Given the description of an element on the screen output the (x, y) to click on. 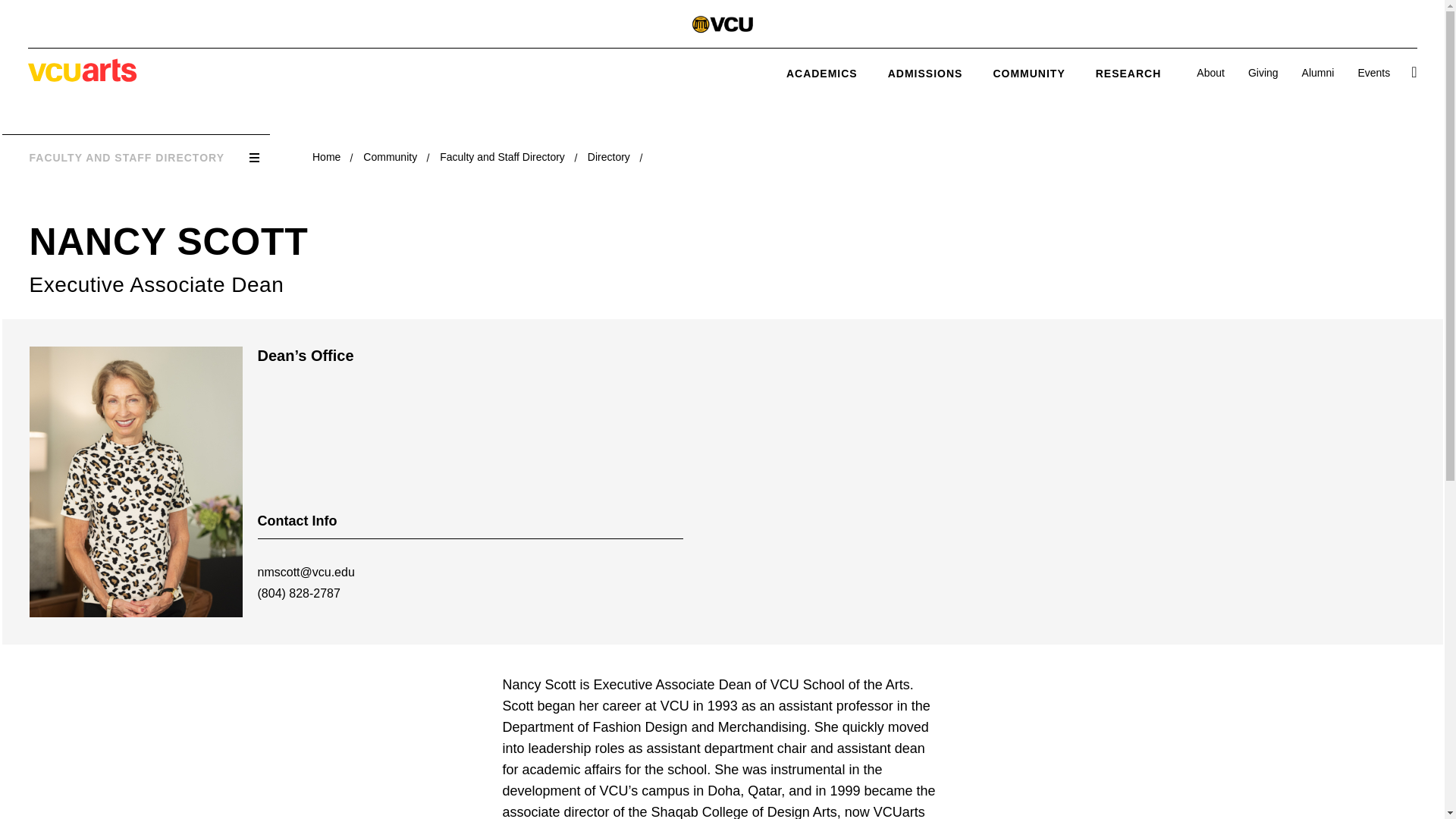
branding-page (722, 25)
Go to Faculty and Staff Directory. (501, 156)
Go to VCUarts. (326, 156)
Go to Community. (389, 156)
Go to Directory. (609, 156)
home-page (81, 77)
ACADEMICS (821, 73)
